Given the description of an element on the screen output the (x, y) to click on. 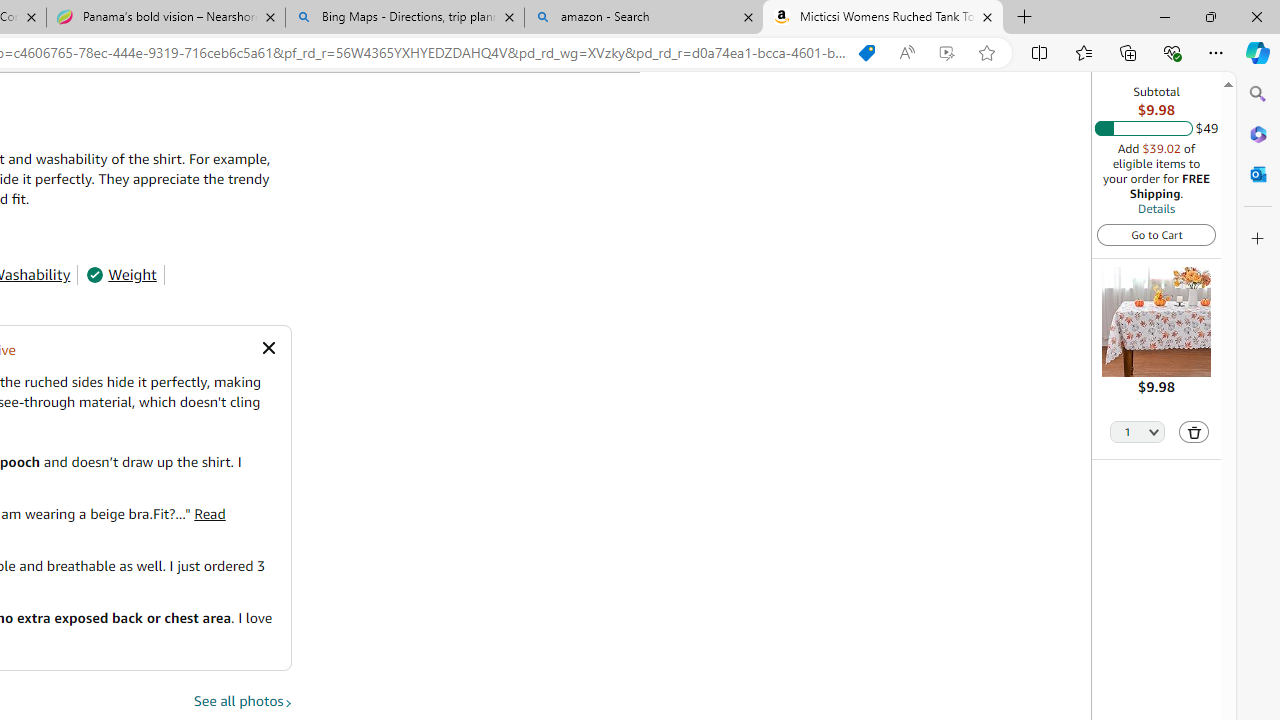
Weight (121, 274)
Enhance video (946, 53)
amazon - Search (643, 17)
